Given the description of an element on the screen output the (x, y) to click on. 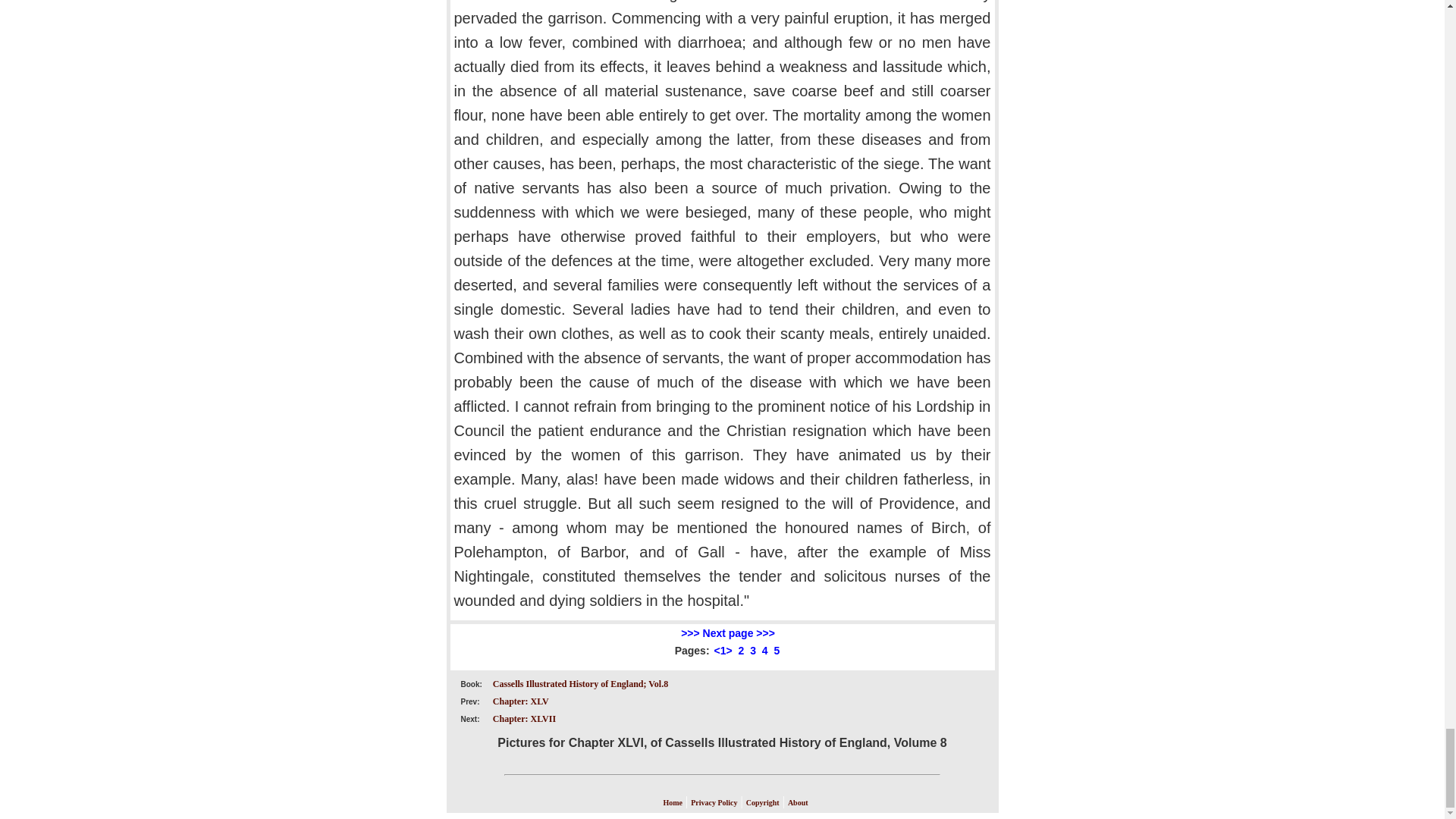
LiveInternet (647, 793)
2 (740, 650)
3 (752, 650)
4 (765, 650)
5 (777, 650)
